Given the description of an element on the screen output the (x, y) to click on. 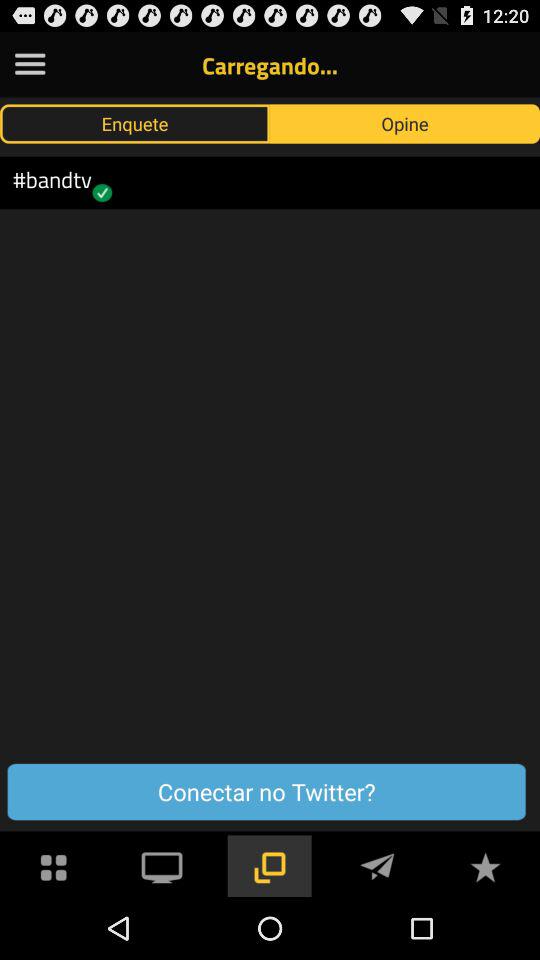
apps symbol (54, 865)
